Given the description of an element on the screen output the (x, y) to click on. 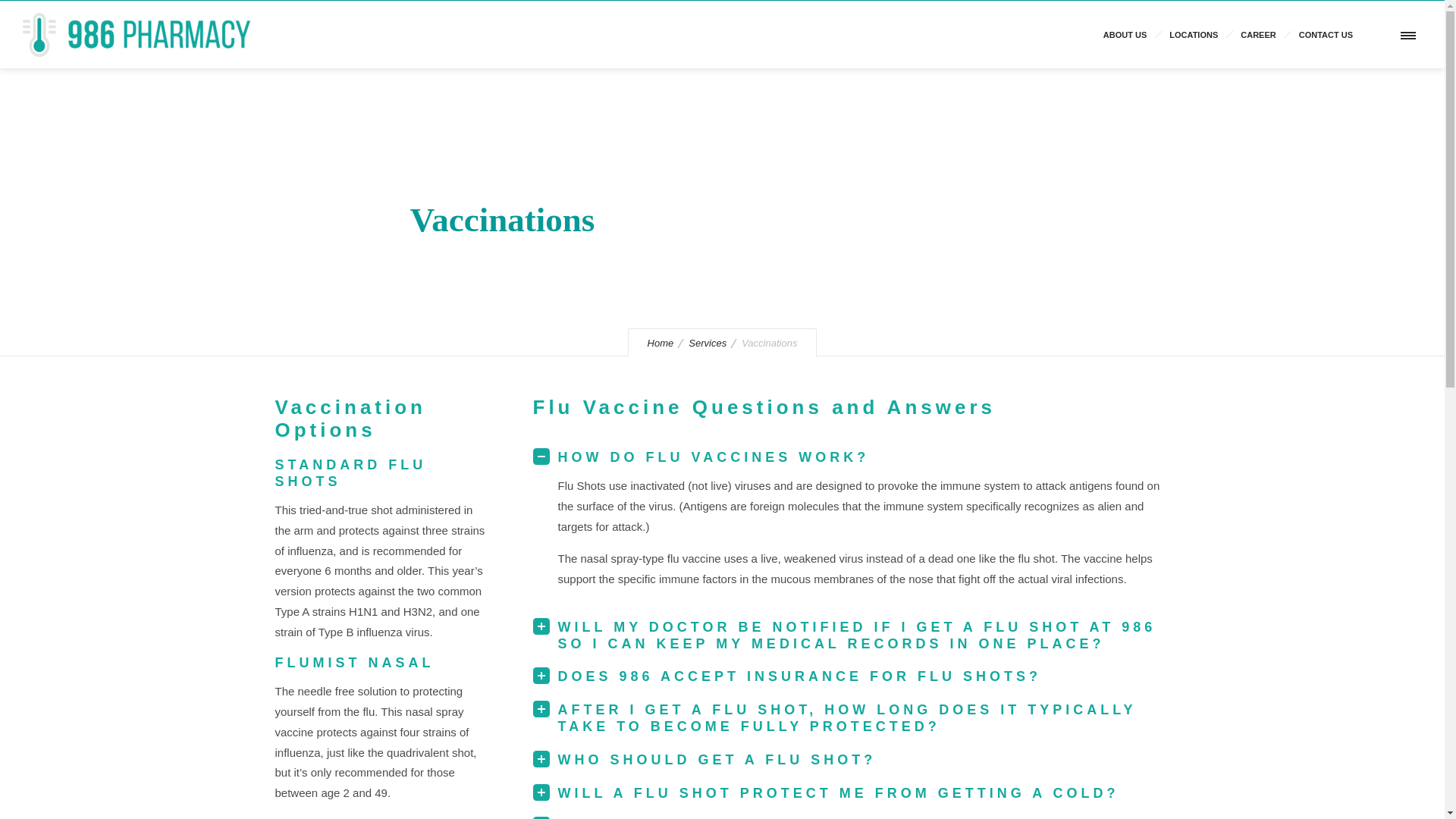
Home (660, 342)
CONTACT US (1325, 34)
LOCATIONS (1192, 34)
ABOUT US (1124, 34)
Services (707, 342)
CAREER (1257, 34)
